Given the description of an element on the screen output the (x, y) to click on. 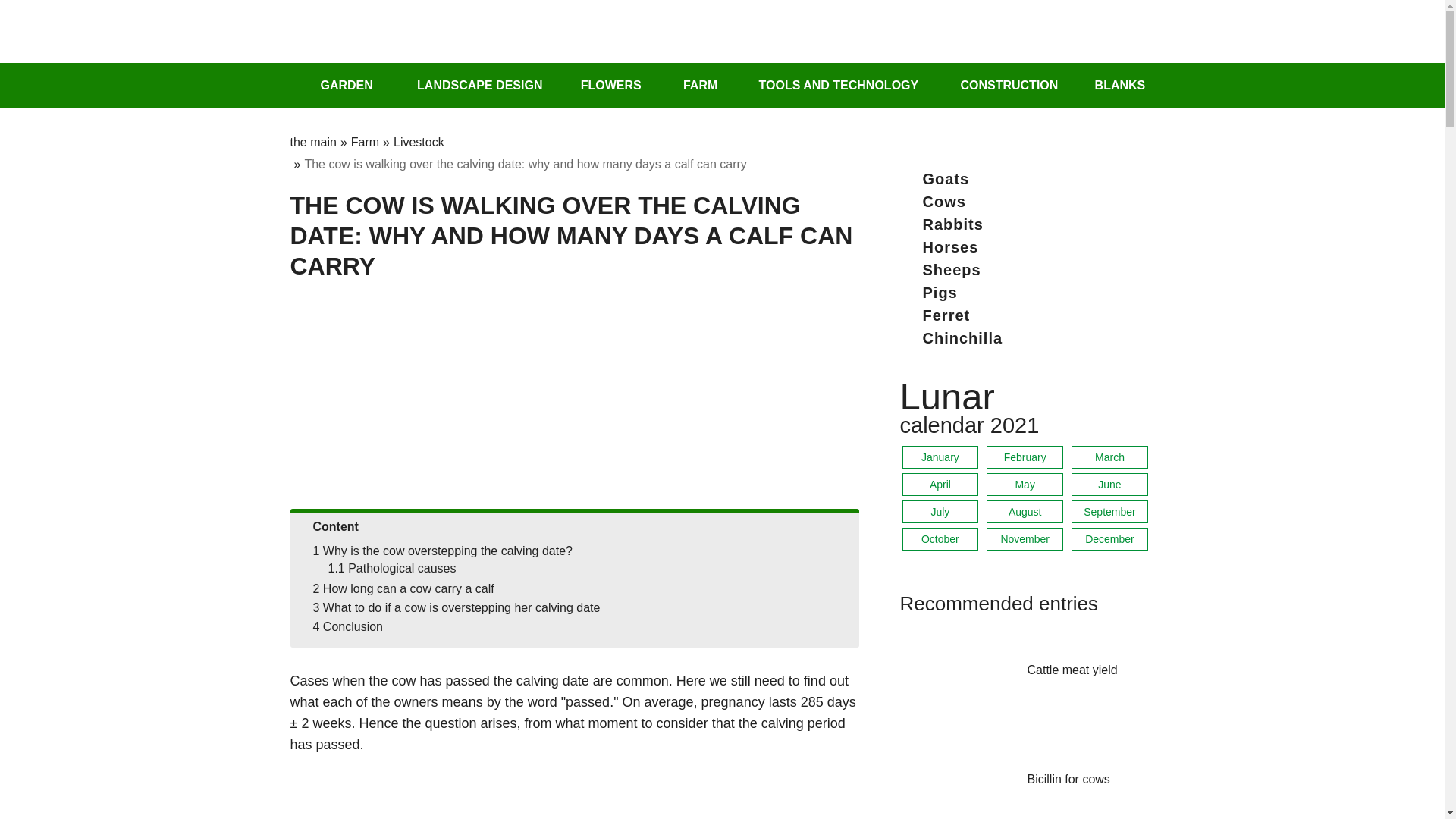
FLOWERS (601, 85)
2 How long can a cow carry a calf (403, 588)
Farm (364, 141)
ferret (1029, 314)
1 Why is the cow overstepping the calving date? (442, 550)
horses (1029, 246)
sheeps (1029, 269)
pigs (1029, 292)
chinchilla (1029, 337)
LANDSCAPE DESIGN (466, 85)
